Given the description of an element on the screen output the (x, y) to click on. 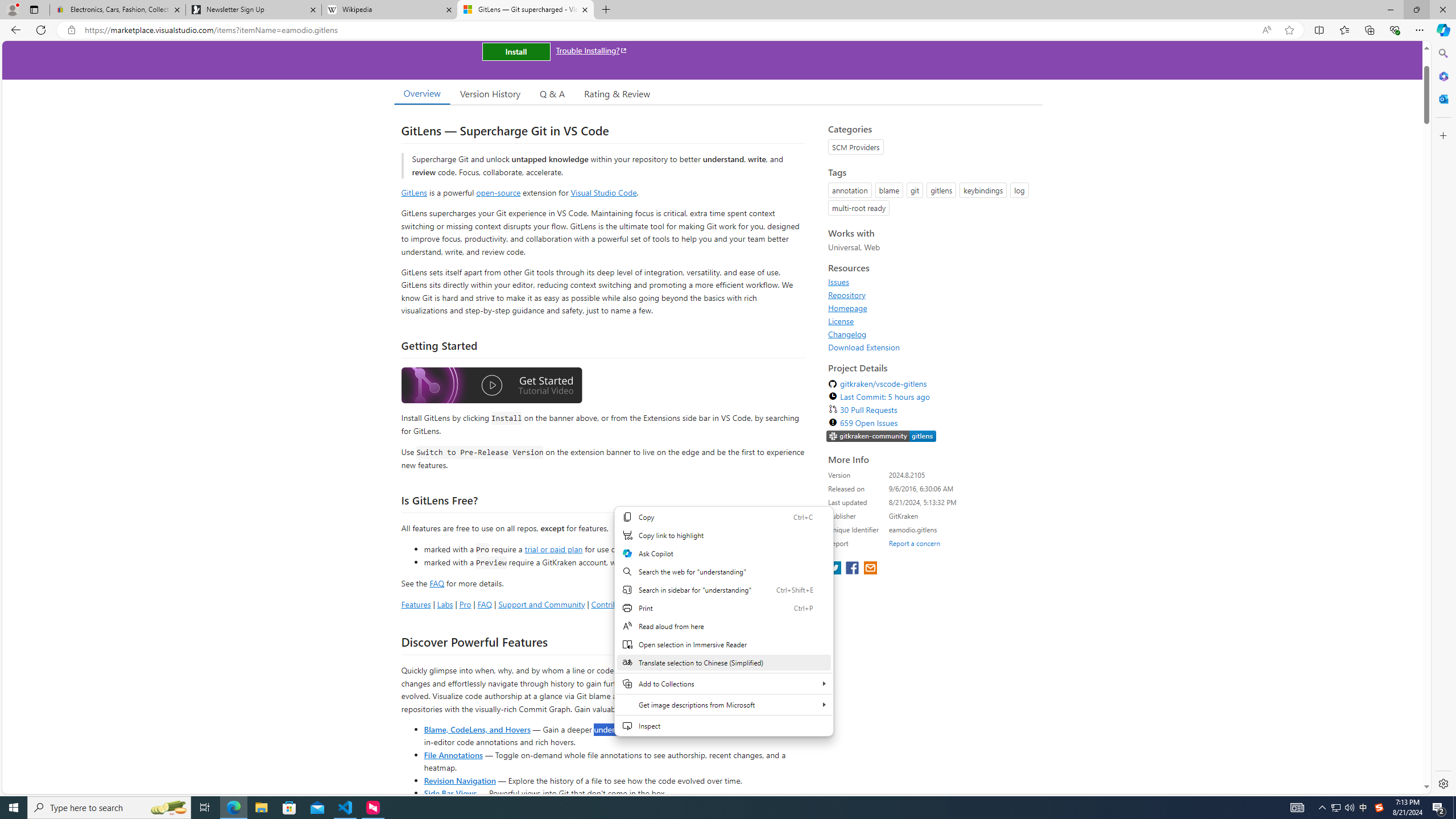
GitLens (414, 192)
Side Bar Views (449, 792)
Ask Copilot (723, 553)
Repository (847, 294)
plan (730, 562)
Search the web for "understanding" (723, 571)
